Given the description of an element on the screen output the (x, y) to click on. 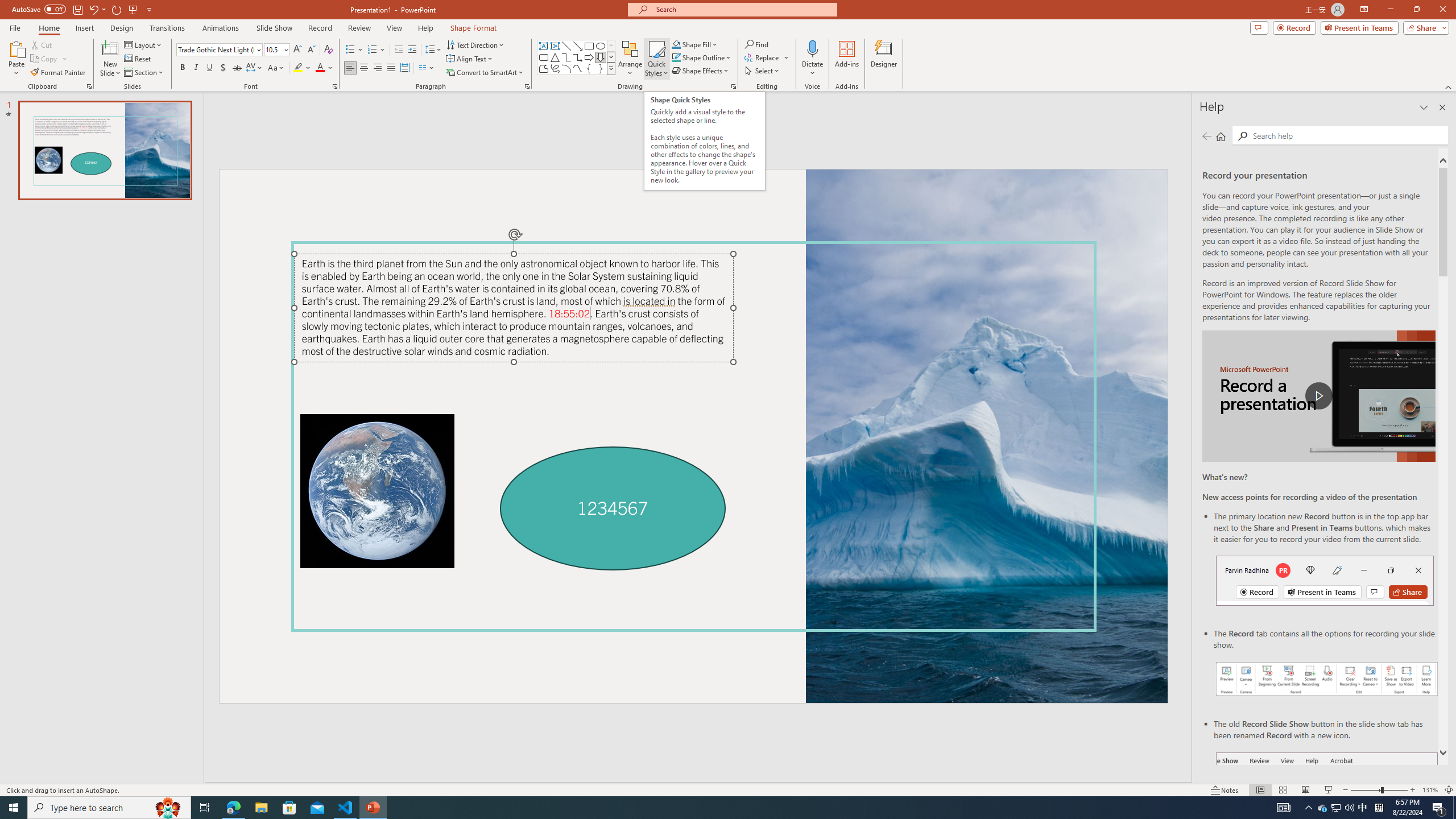
Oval (600, 45)
Left Brace (589, 68)
Vertical Text Box (554, 45)
Align Left (349, 67)
Line (566, 45)
Align Text (470, 58)
Shape Format (473, 28)
